Given the description of an element on the screen output the (x, y) to click on. 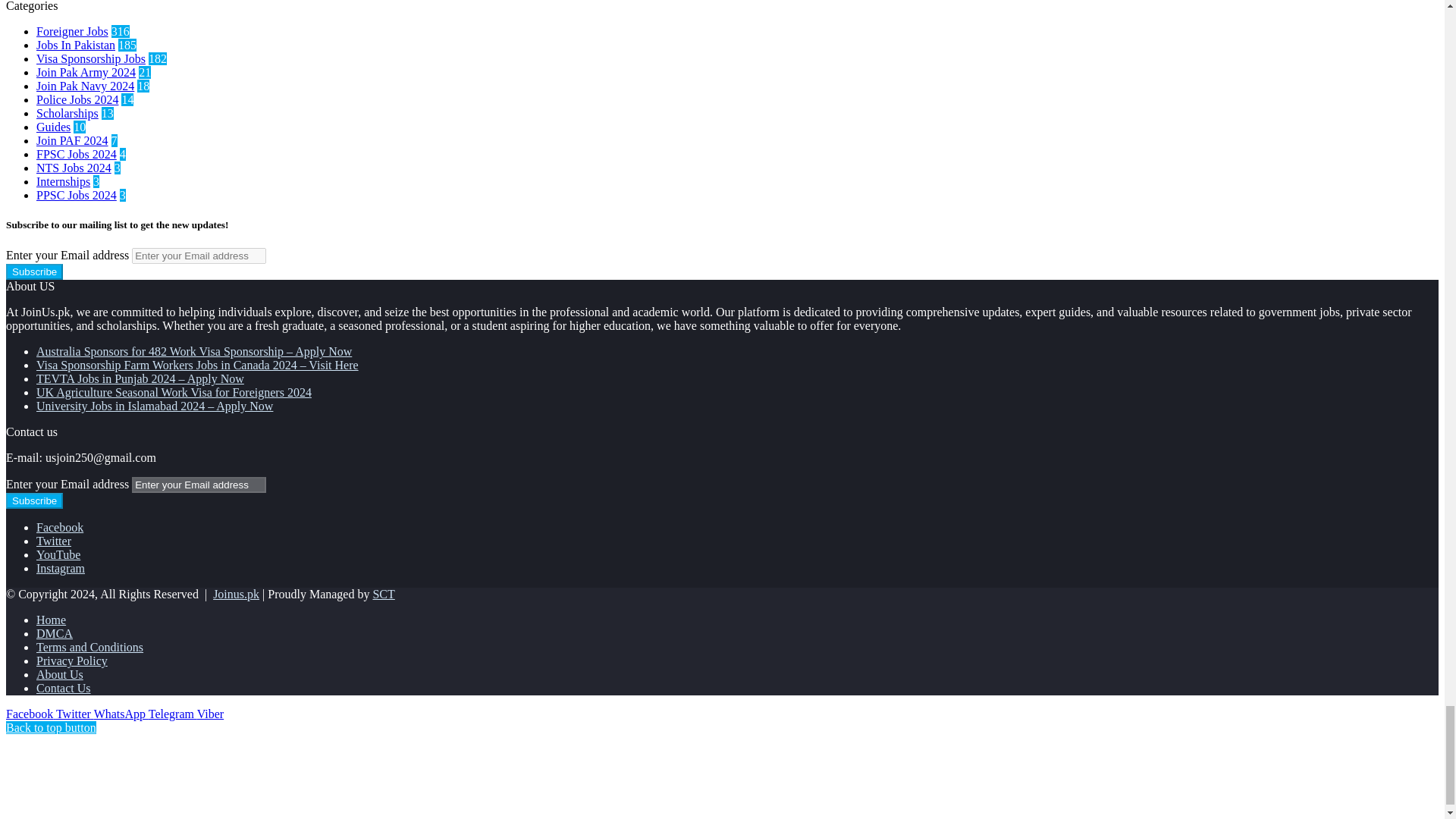
Viber (210, 713)
WhatsApp (121, 713)
Twitter (75, 713)
Subscribe (33, 500)
Facebook (30, 713)
Subscribe (33, 271)
Telegram (172, 713)
